Given the description of an element on the screen output the (x, y) to click on. 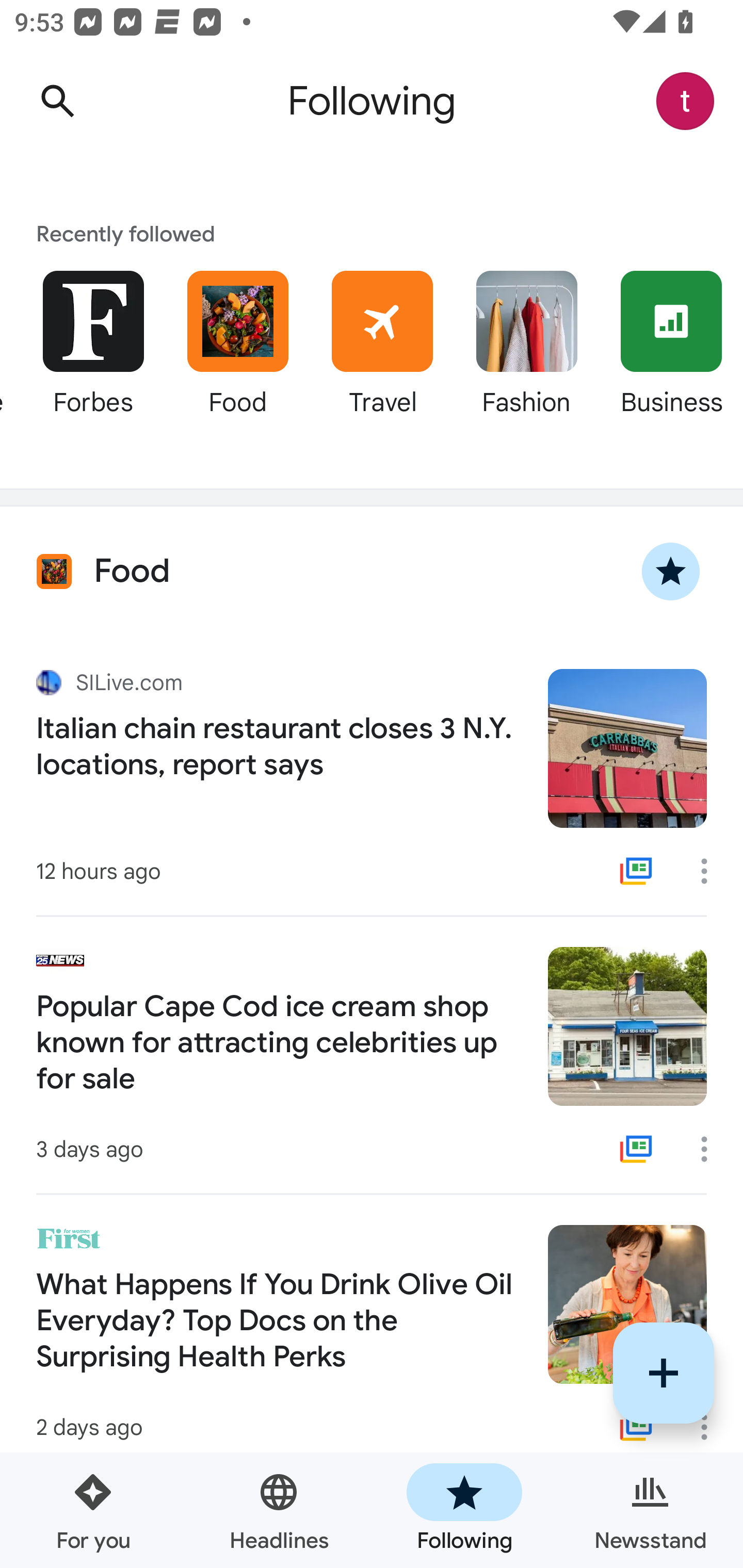
Search (57, 100)
Forbes (92, 355)
Food (237, 355)
Travel (381, 355)
Fashion (526, 355)
Business (670, 355)
Food Food Unfollow (371, 571)
Unfollow (670, 571)
More options (711, 870)
More options (711, 1149)
Follow (663, 1372)
For you (92, 1509)
Headlines (278, 1509)
Following (464, 1509)
Newsstand (650, 1509)
